Given the description of an element on the screen output the (x, y) to click on. 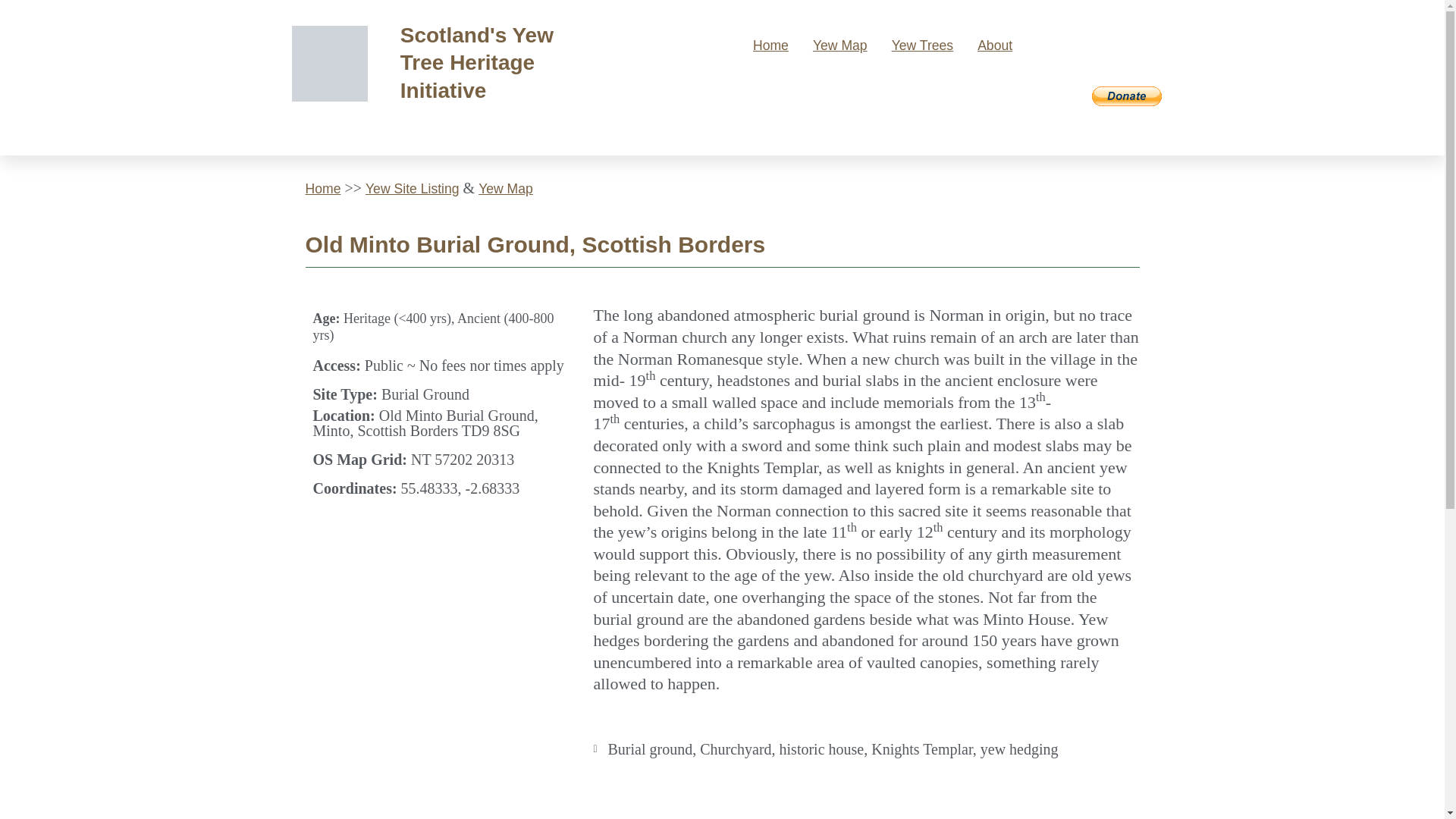
Yew Map (839, 45)
Home (770, 45)
SYTHI logo icon (330, 63)
Yew Trees (922, 45)
55.48333, -2.68333 (722, 800)
About (993, 45)
